Given the description of an element on the screen output the (x, y) to click on. 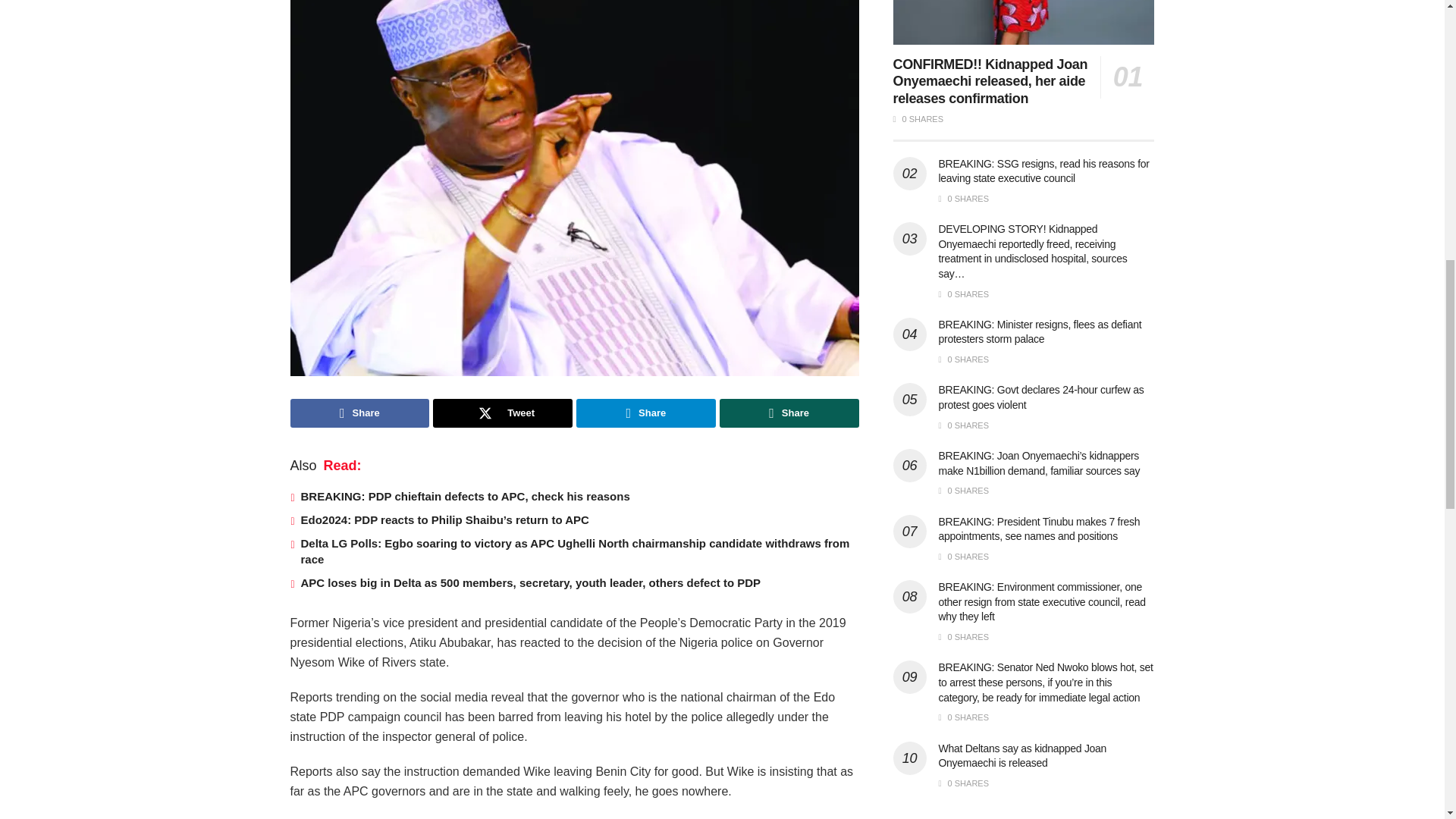
Share (789, 412)
Share (359, 412)
Tweet (502, 412)
Share (646, 412)
